Given the description of an element on the screen output the (x, y) to click on. 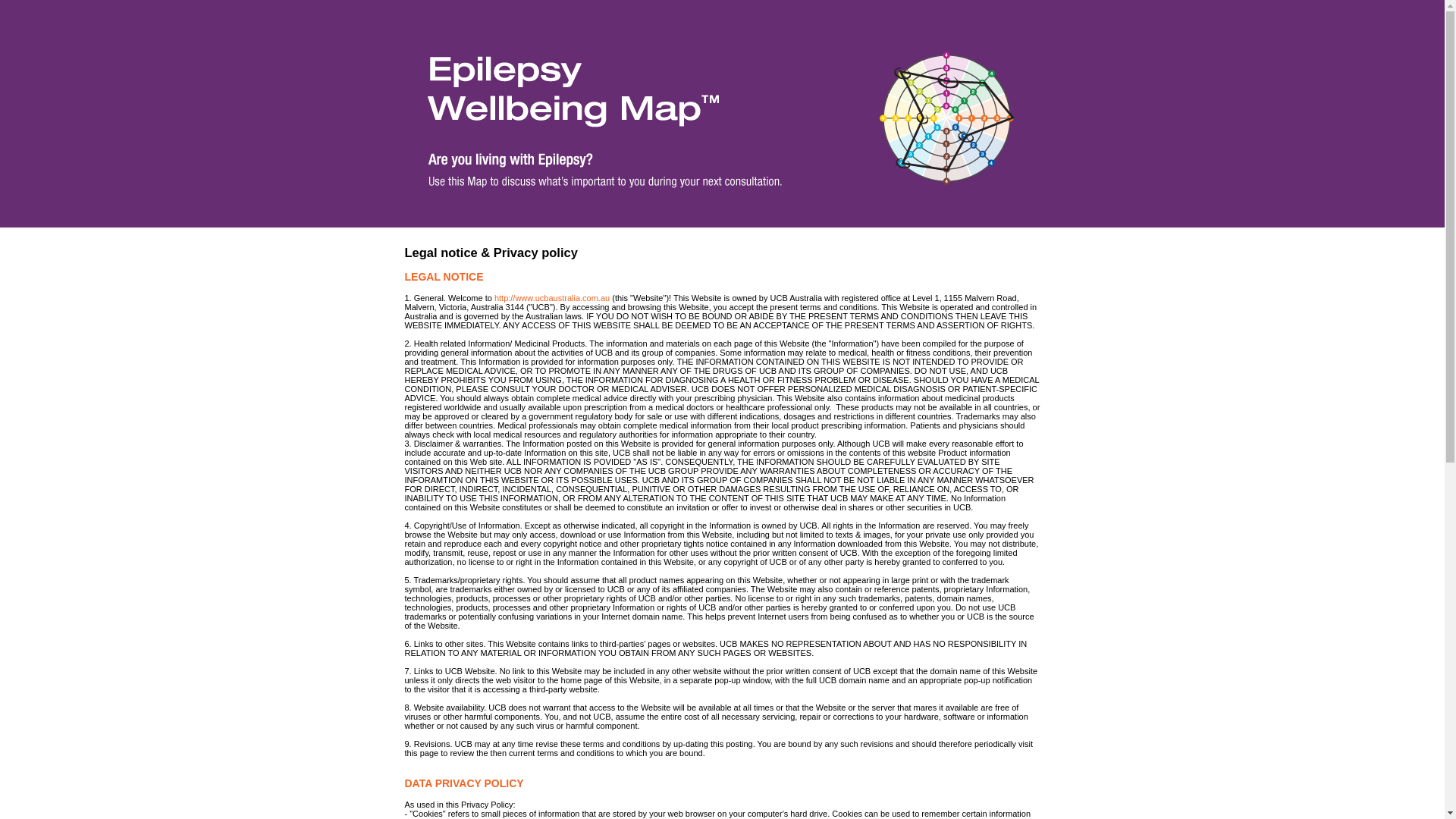
http://www.ucbaustralia.com.au Element type: text (551, 298)
